Given the description of an element on the screen output the (x, y) to click on. 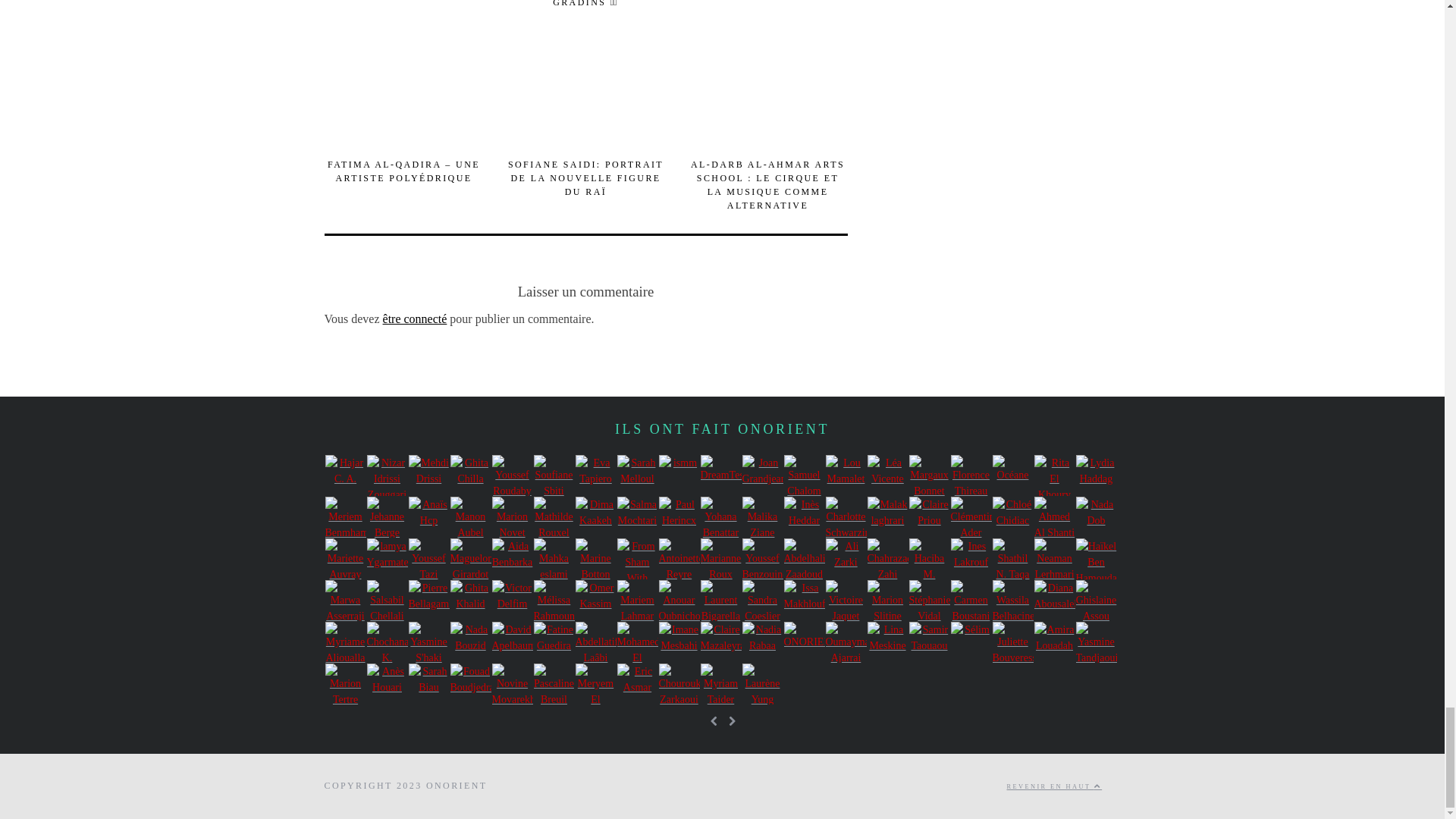
Soufiane Sbiti (554, 475)
Hajar C. A. (344, 475)
DreamTest (720, 475)
Ghita Chilla (470, 475)
Mehdi Drissi (427, 475)
Joan Grandjean (762, 475)
Nizar Idrissi Zouggari (386, 475)
Sarah Melloul (637, 475)
Eva Tapiero (595, 475)
Youssef Roudaby (512, 475)
ismm (678, 475)
